Given the description of an element on the screen output the (x, y) to click on. 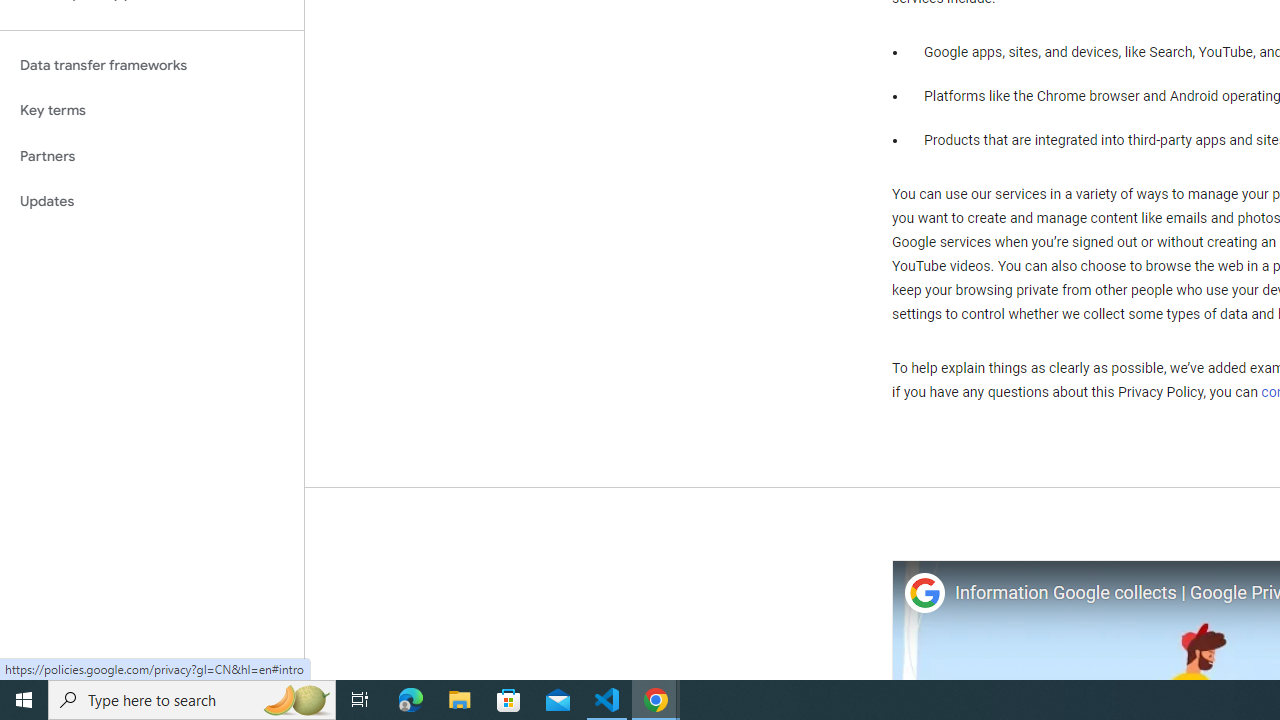
Data transfer frameworks (152, 65)
Partners (152, 156)
Key terms (152, 110)
Updates (152, 201)
Photo image of Google (924, 593)
